Given the description of an element on the screen output the (x, y) to click on. 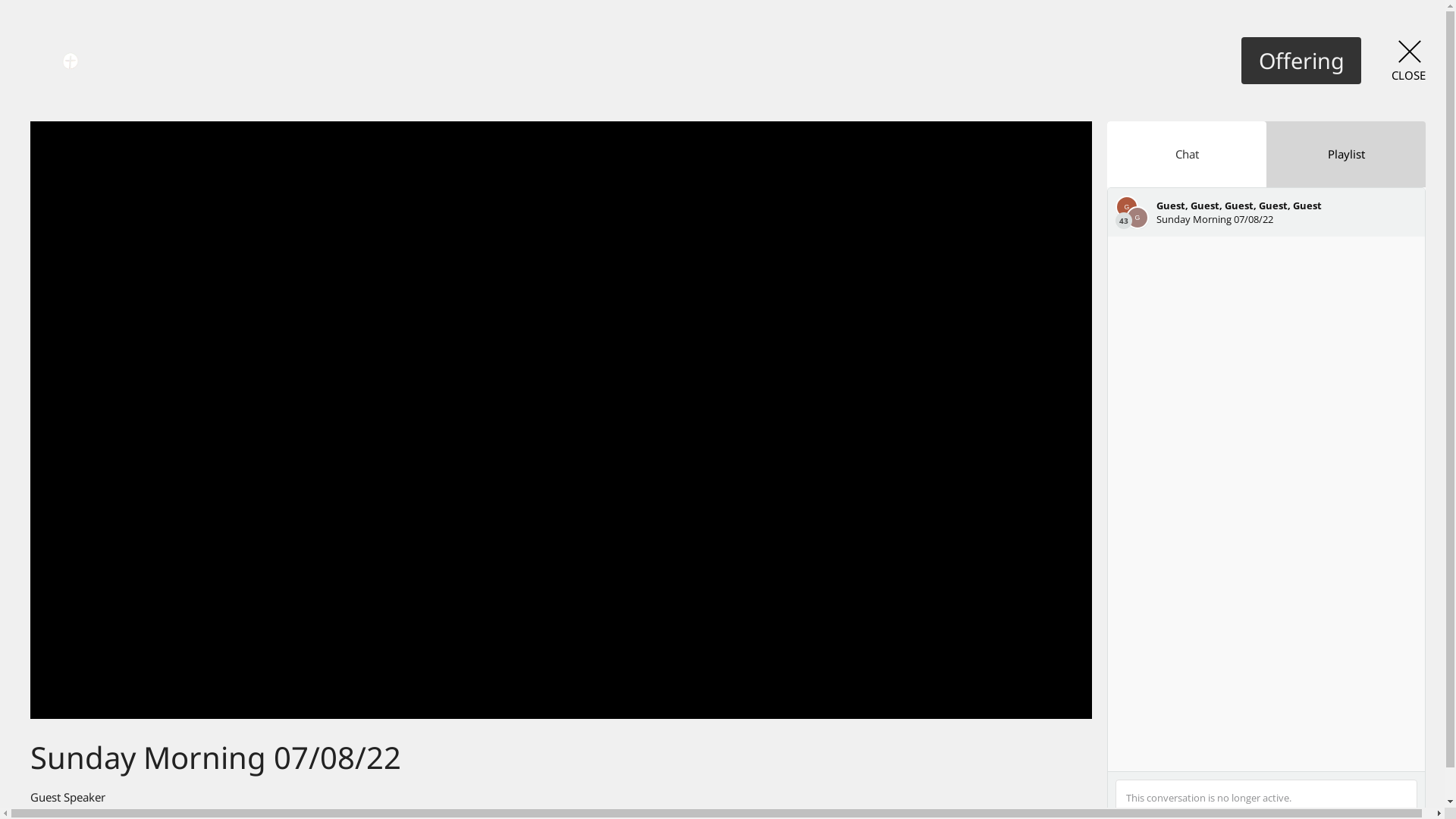
Offering Element type: text (1301, 60)
CLOSE Element type: text (1408, 60)
